Given the description of an element on the screen output the (x, y) to click on. 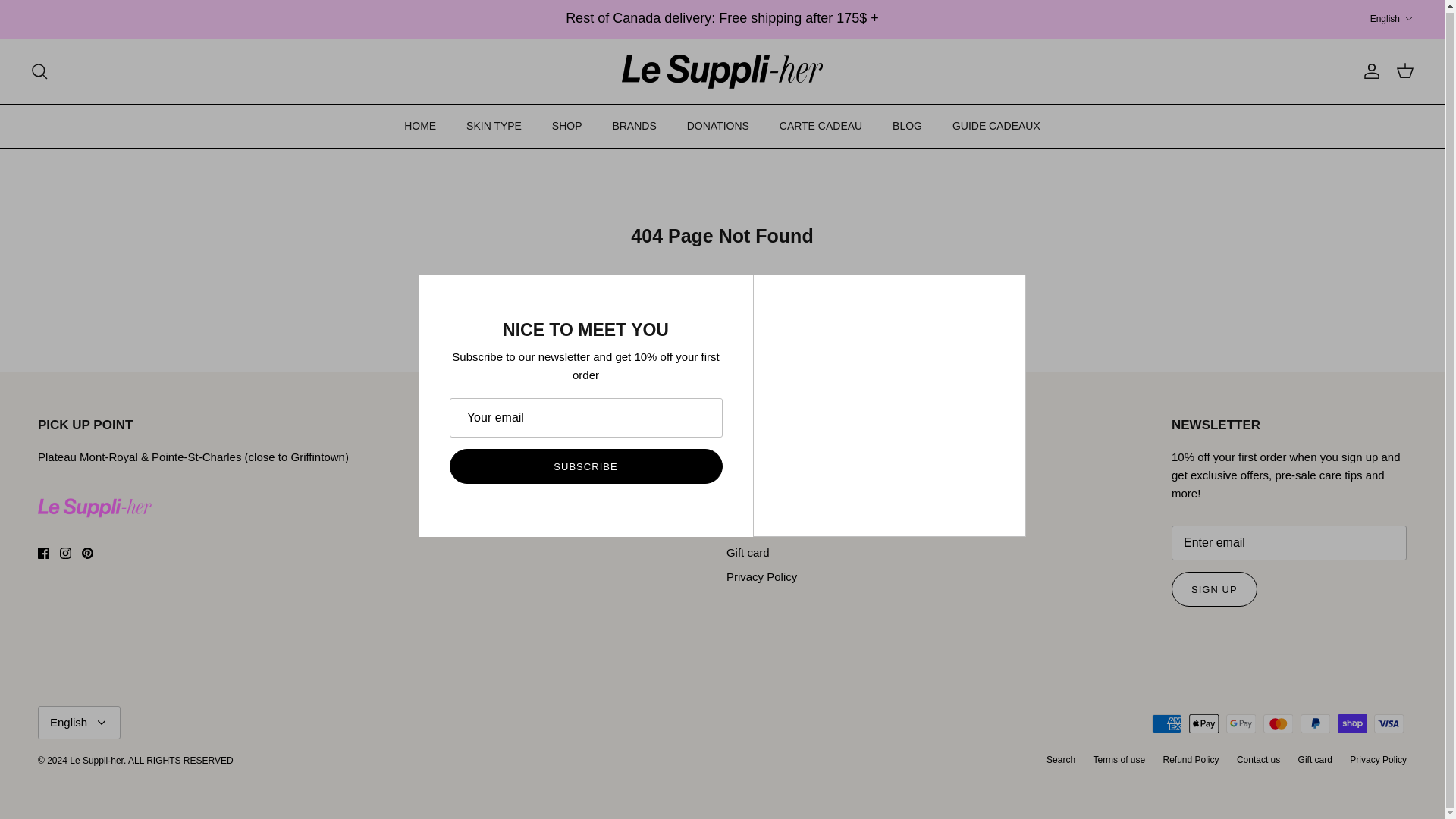
Search (39, 71)
Pinterest (87, 552)
Le Suppli-her (721, 71)
HOME (419, 126)
SKIN TYPE (493, 126)
PayPal (1315, 723)
Visa (1391, 18)
Google Pay (1388, 723)
American Express (1240, 723)
Cart (1166, 723)
Instagram (1404, 71)
SHOP (65, 552)
Down (566, 126)
Shop Pay (1408, 18)
